Given the description of an element on the screen output the (x, y) to click on. 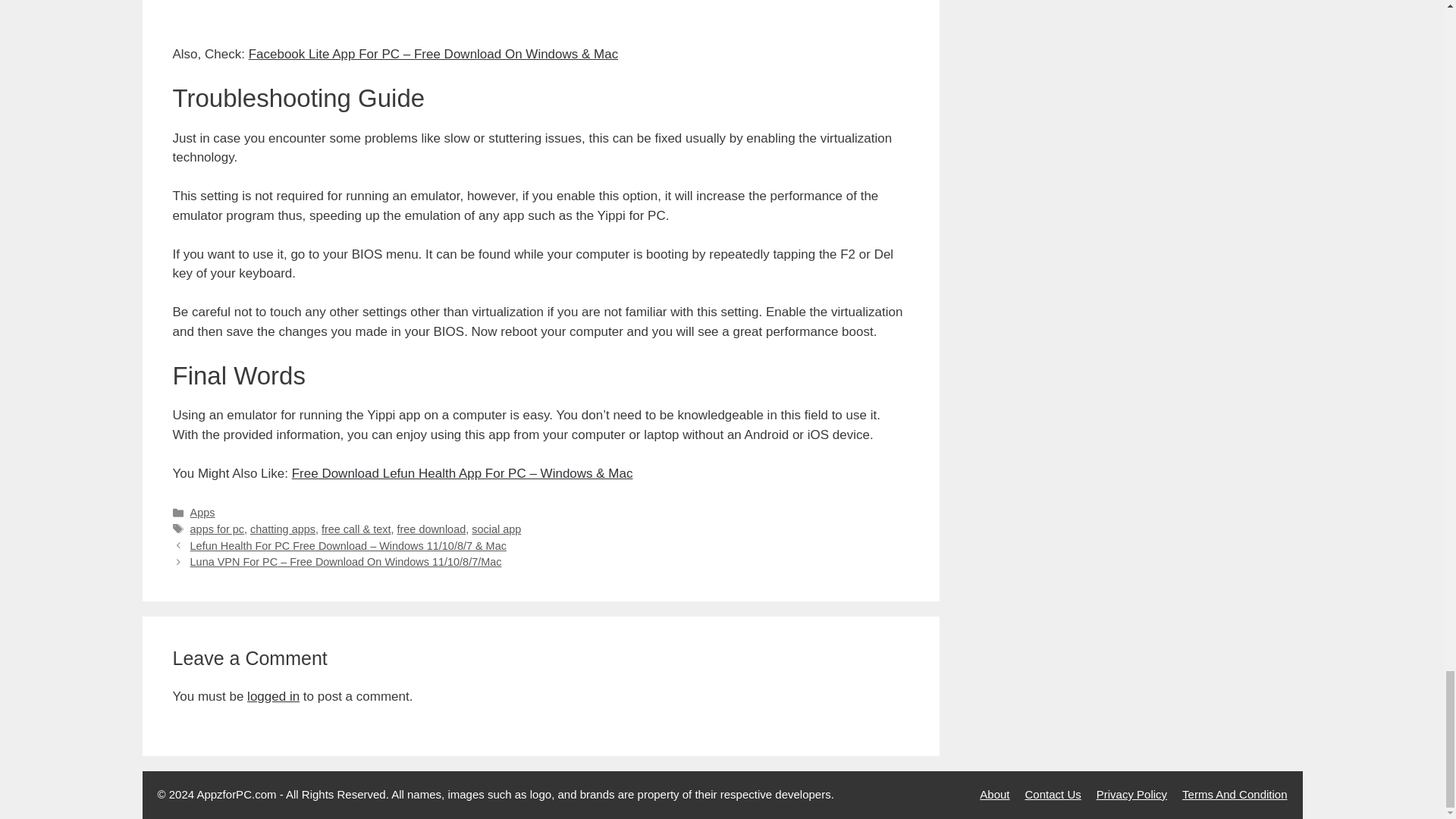
free download (431, 529)
chatting apps (282, 529)
apps for pc (217, 529)
social app (496, 529)
logged in (273, 696)
Apps (202, 512)
